Given the description of an element on the screen output the (x, y) to click on. 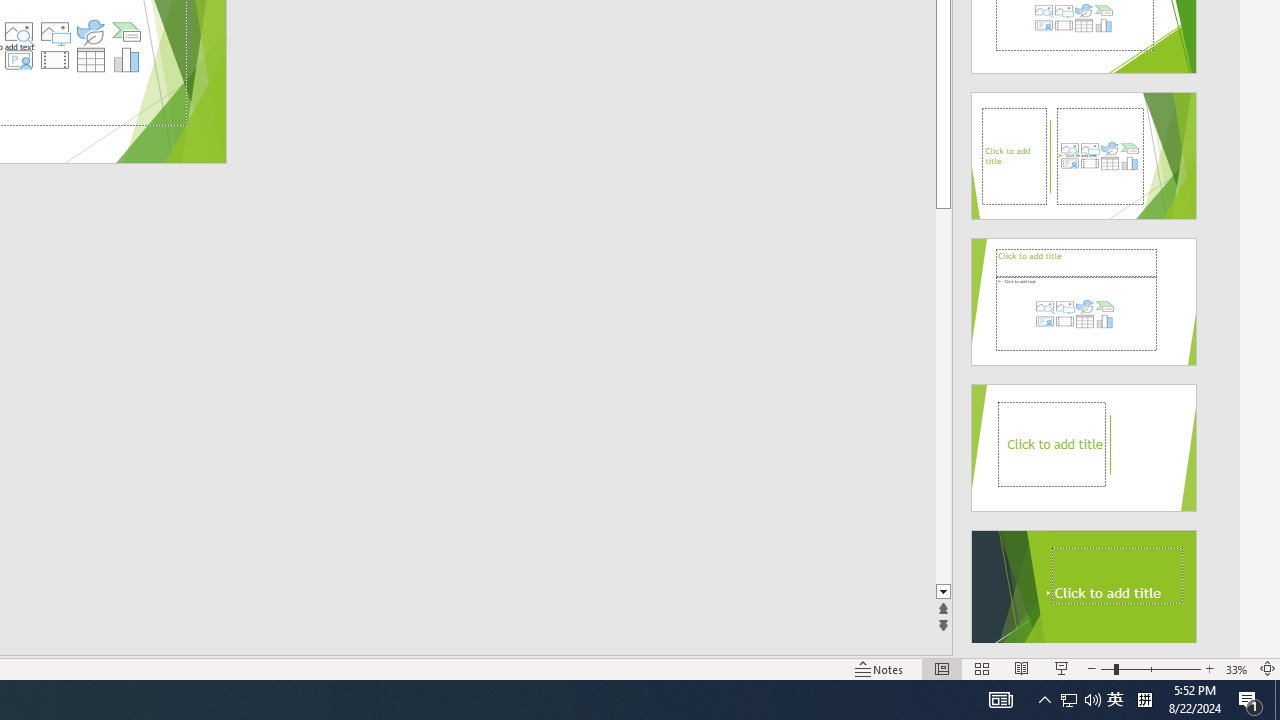
Insert a SmartArt Graphic (127, 32)
Zoom 33% (1236, 668)
